Given the description of an element on the screen output the (x, y) to click on. 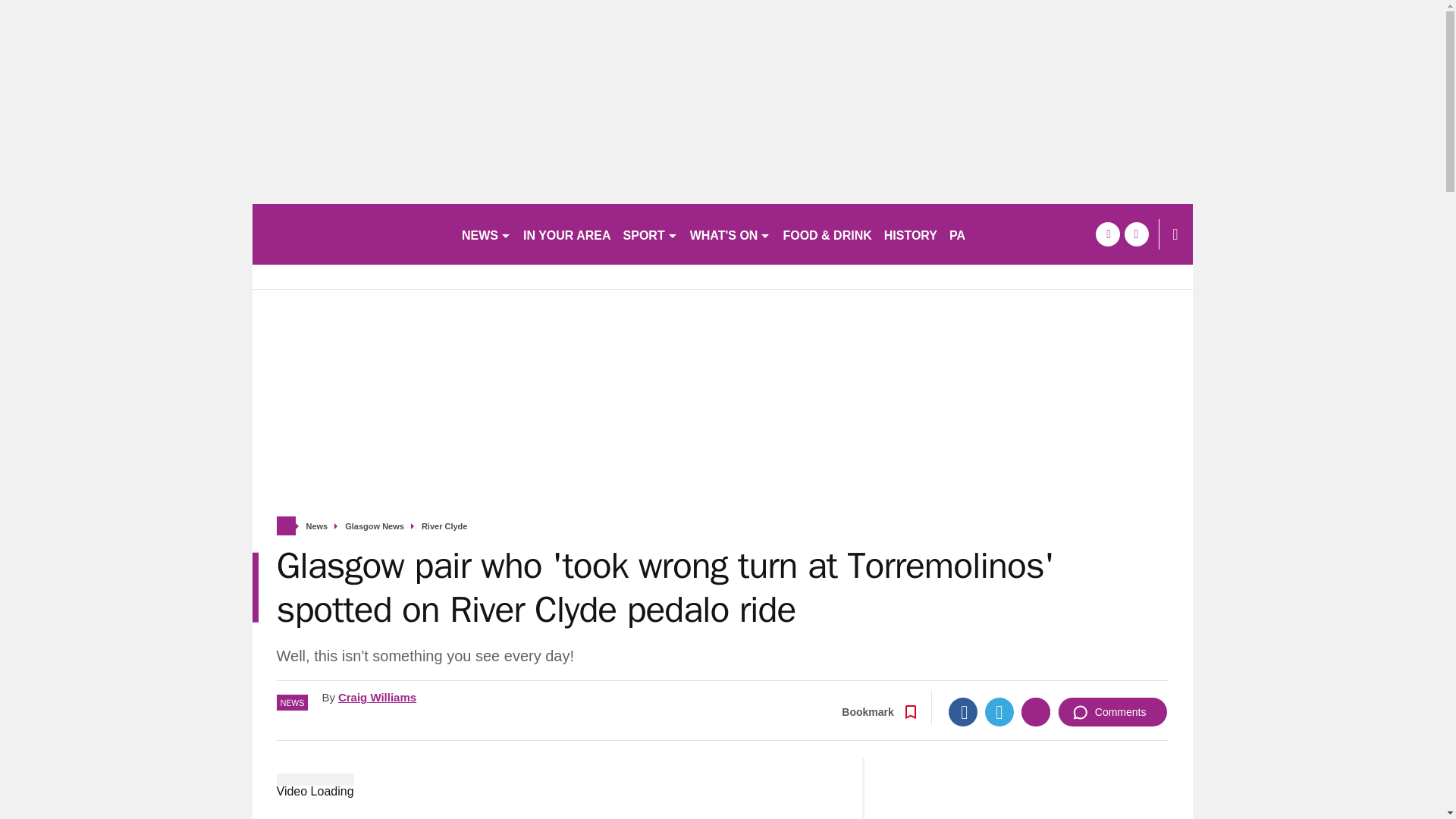
Facebook (962, 711)
glasgowlive (349, 233)
Twitter (999, 711)
WHAT'S ON (730, 233)
twitter (1136, 233)
PARTNER STORIES (1006, 233)
HISTORY (910, 233)
IN YOUR AREA (566, 233)
SPORT (650, 233)
Comments (1112, 711)
